Given the description of an element on the screen output the (x, y) to click on. 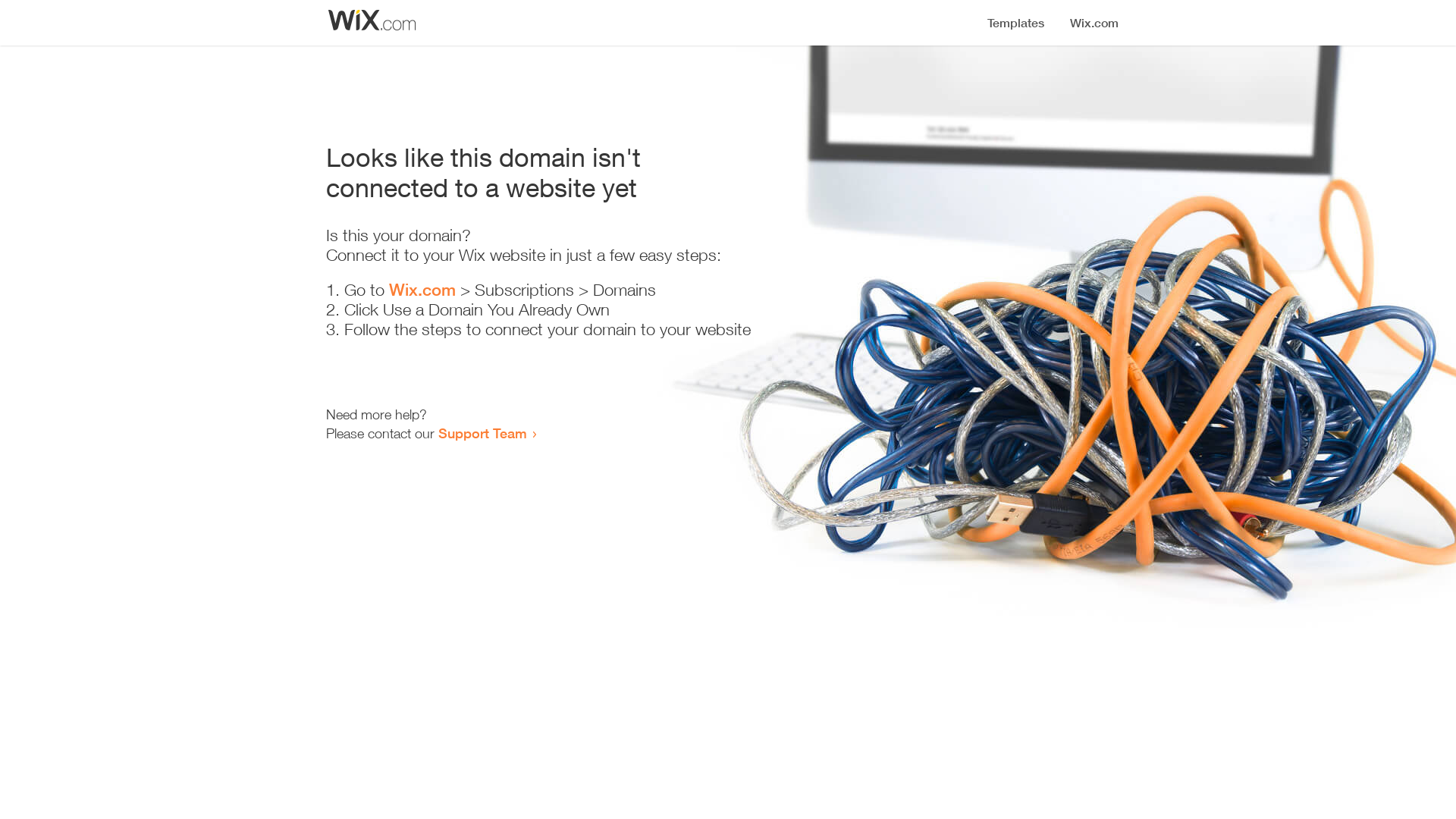
Wix.com Element type: text (422, 289)
Support Team Element type: text (482, 432)
